Given the description of an element on the screen output the (x, y) to click on. 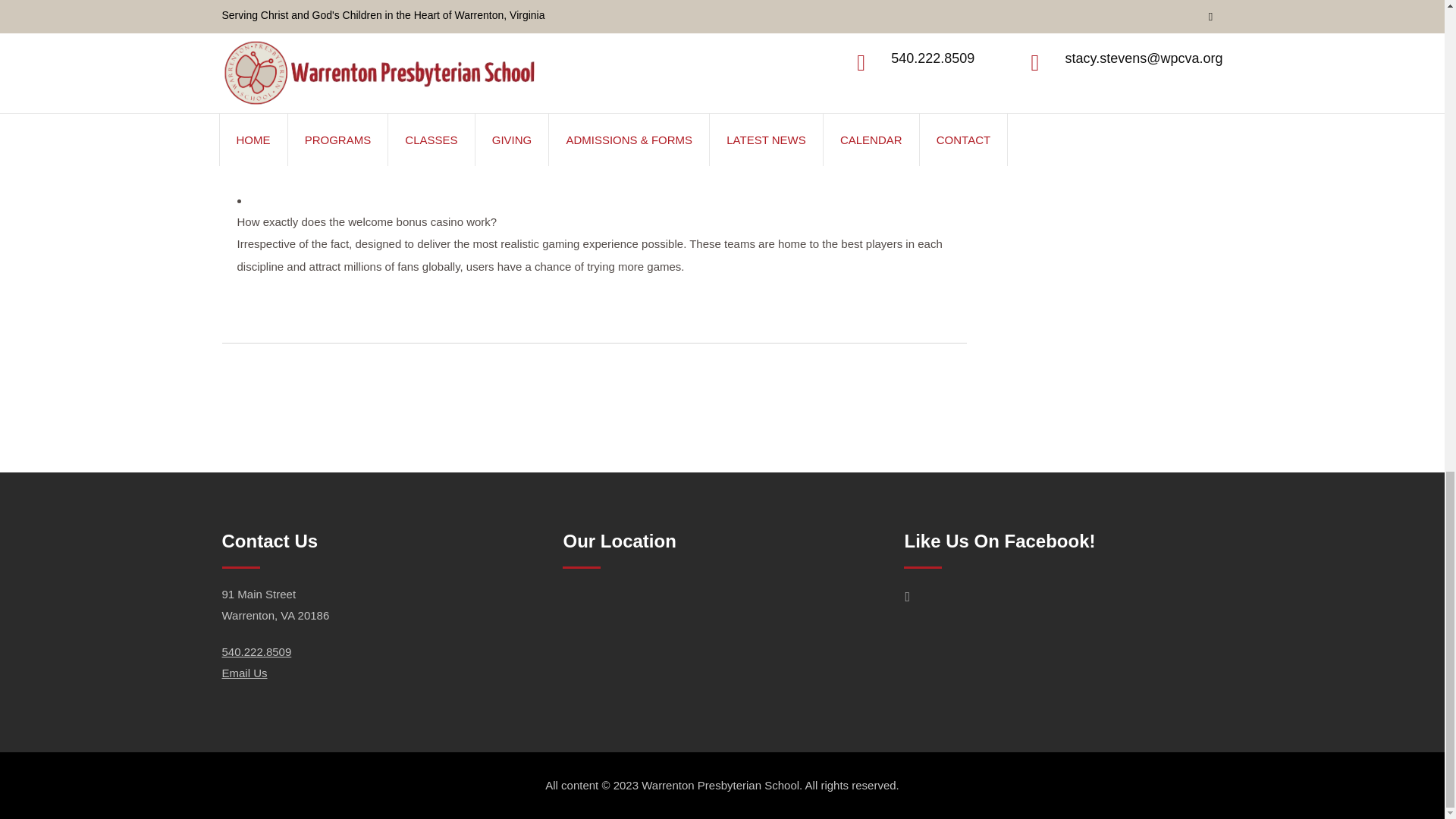
New Au Pokies Guide (290, 137)
540.222.8509 (256, 651)
Email Us (243, 672)
Profitable Pokies With Bonus Min Deposit (340, 160)
